Given the description of an element on the screen output the (x, y) to click on. 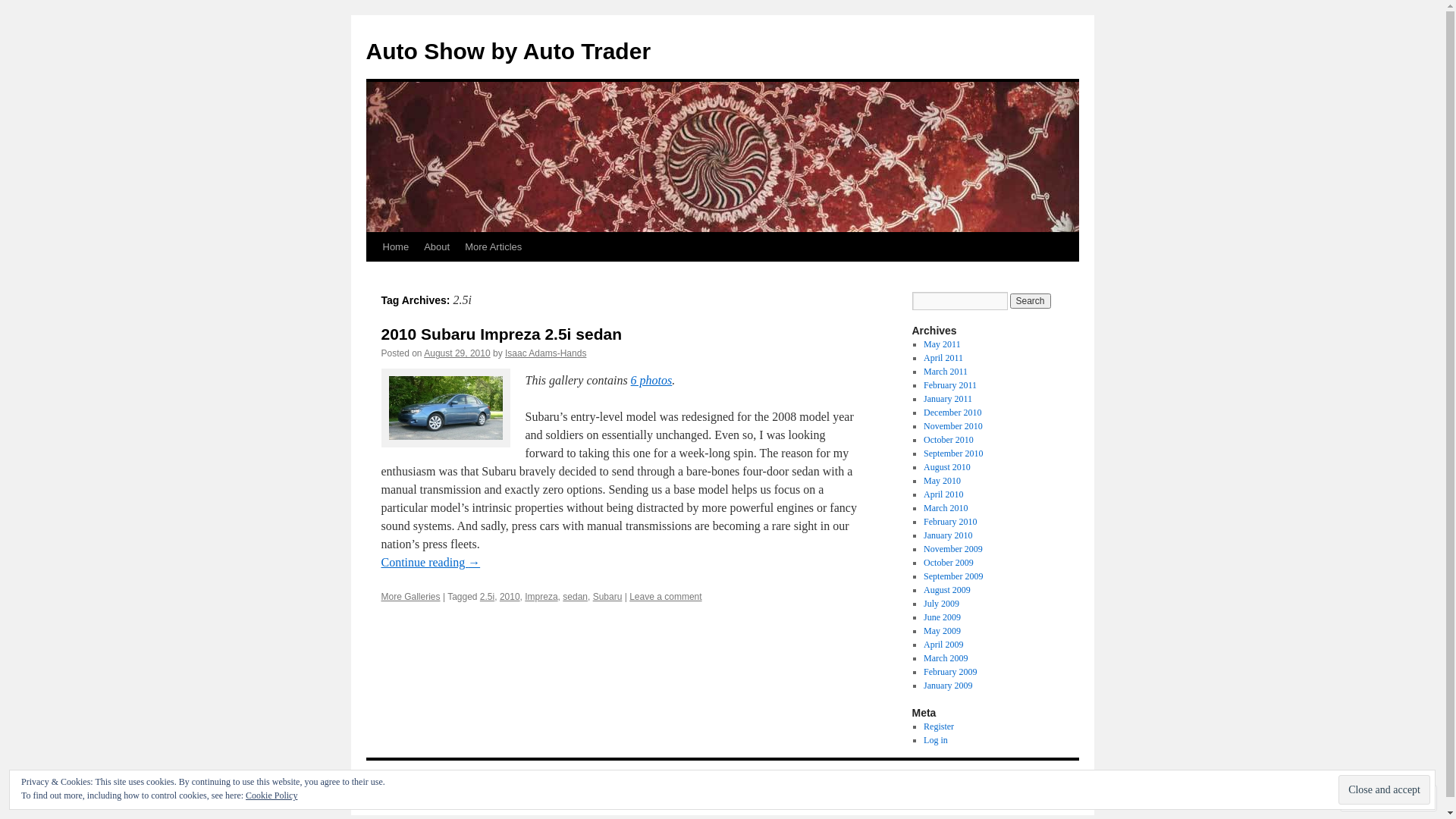
April 2011 Element type: text (943, 357)
February 2010 Element type: text (949, 521)
More Articles Element type: text (493, 246)
June 2009 Element type: text (941, 616)
August 29, 2010 Element type: text (456, 353)
Leave a comment Element type: text (665, 596)
February 2011 Element type: text (949, 384)
Cookie Policy Element type: text (271, 795)
May 2011 Element type: text (941, 343)
May 2010 Element type: text (941, 480)
About Element type: text (436, 246)
March 2010 Element type: text (945, 507)
More Galleries Element type: text (409, 596)
January 2010 Element type: text (947, 535)
October 2010 Element type: text (948, 439)
2010 Subaru Impreza 2.5i sedan Element type: text (500, 333)
August 2009 Element type: text (946, 589)
January 2009 Element type: text (947, 685)
April 2010 Element type: text (943, 494)
May 2009 Element type: text (941, 630)
Close and accept Element type: text (1384, 789)
2010 Element type: text (509, 596)
August 2010 Element type: text (946, 466)
Follow Element type: text (1374, 797)
December 2010 Element type: text (952, 412)
April 2009 Element type: text (943, 644)
Impreza Element type: text (540, 596)
6 photos Element type: text (651, 379)
Auto Show by Auto Trader Element type: text (507, 50)
October 2009 Element type: text (948, 562)
February 2009 Element type: text (949, 671)
March 2009 Element type: text (945, 657)
November 2009 Element type: text (952, 548)
2.5i Element type: text (487, 596)
September 2010 Element type: text (952, 453)
Log in Element type: text (935, 739)
July 2009 Element type: text (941, 603)
sedan Element type: text (574, 596)
Subaru Element type: text (607, 596)
Isaac Adams-Hands Element type: text (545, 353)
Blog at WordPress.com. Element type: text (1034, 794)
November 2010 Element type: text (952, 425)
Home Element type: text (395, 246)
September 2009 Element type: text (952, 576)
Auto Show by Auto Trader Element type: text (431, 781)
January 2011 Element type: text (947, 398)
Search Element type: text (1030, 300)
March 2011 Element type: text (945, 371)
Register Element type: text (938, 726)
